Given the description of an element on the screen output the (x, y) to click on. 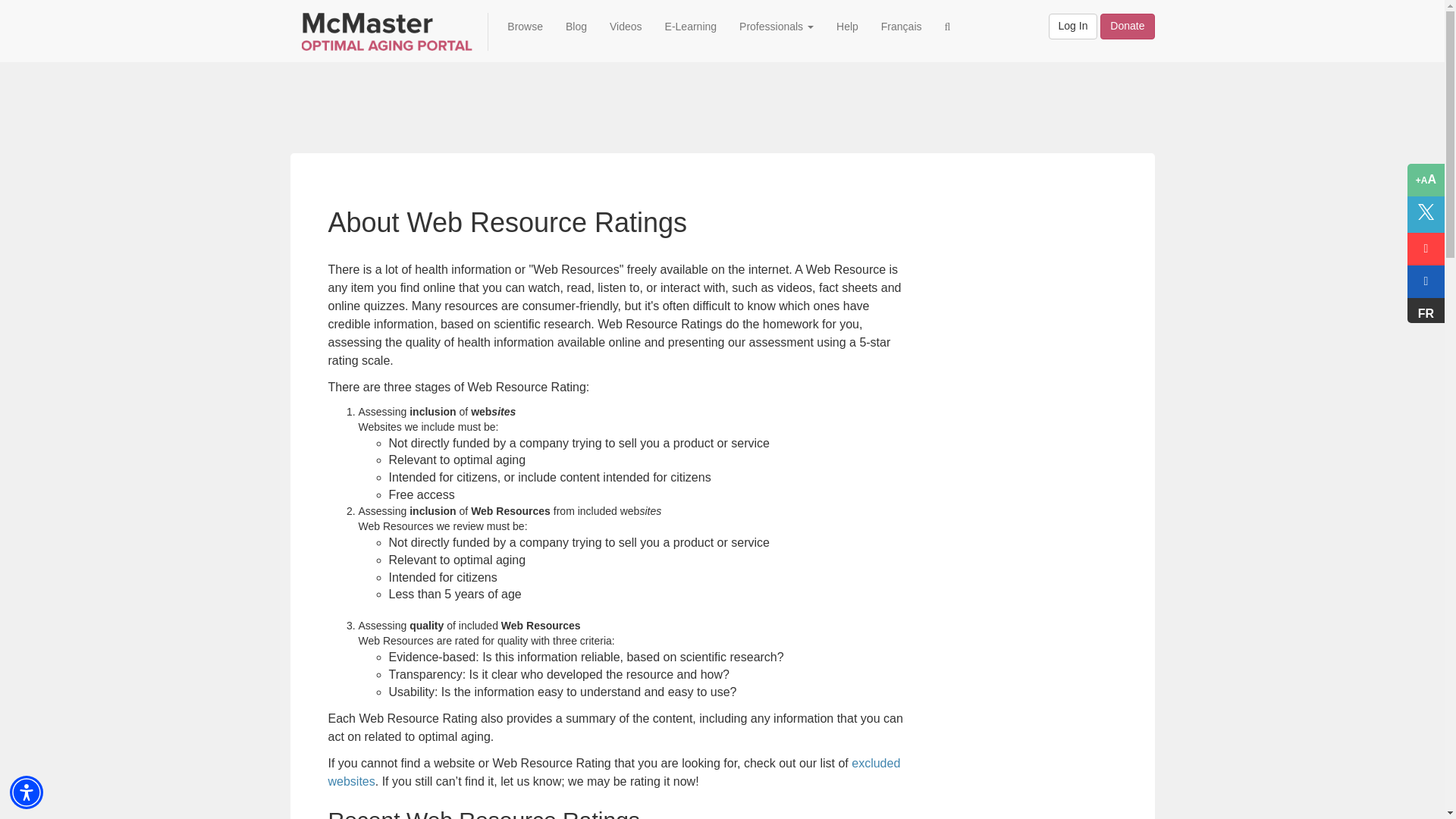
View excluded websites page in this window (613, 771)
E-Learning (691, 26)
excluded websites (613, 771)
Accessibility Menu (26, 792)
Log In (1072, 26)
Donate (1127, 26)
Help (847, 26)
Professionals (776, 26)
Browse (525, 26)
Blog (576, 26)
Videos (625, 26)
